Given the description of an element on the screen output the (x, y) to click on. 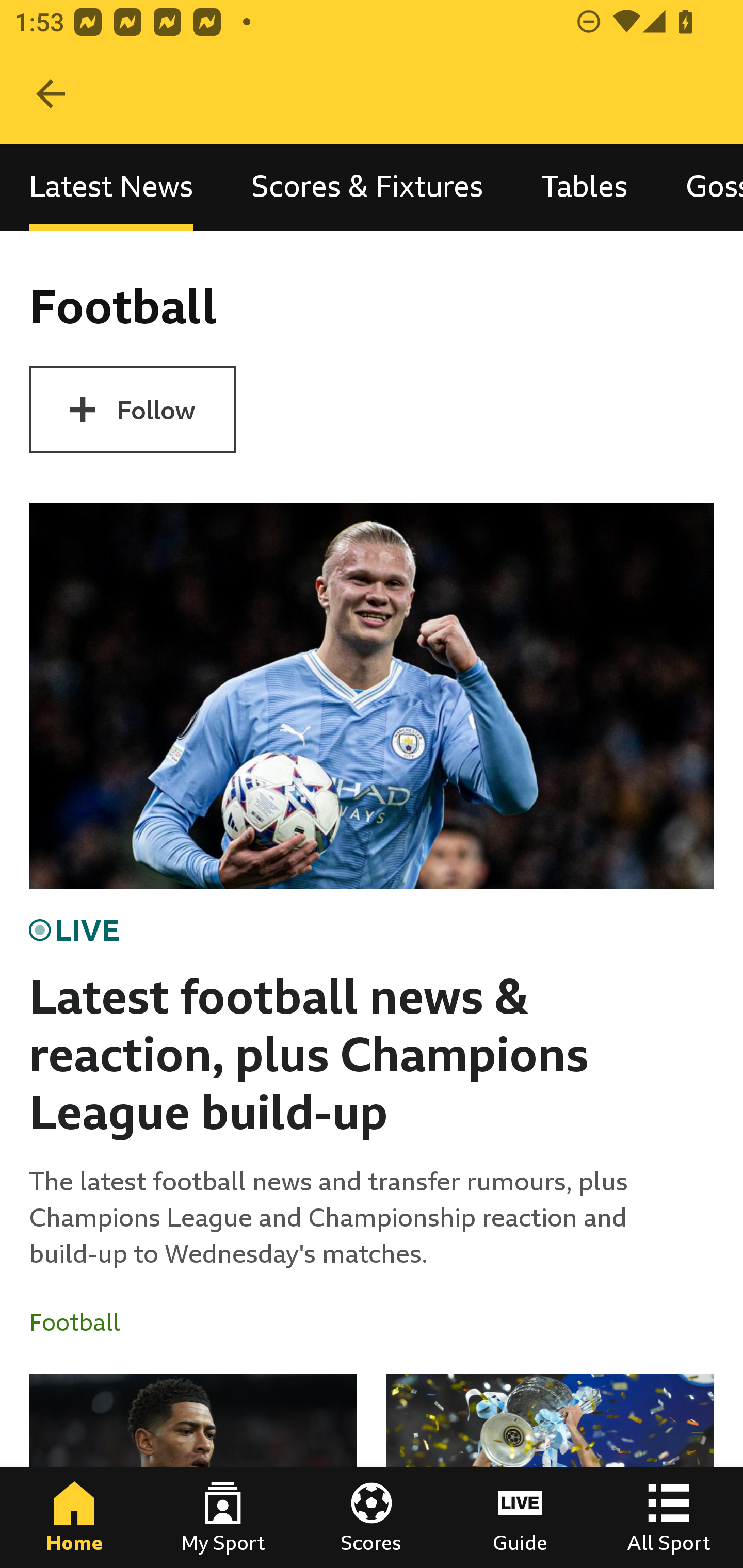
Navigate up (50, 93)
Latest News, selected Latest News (111, 187)
Scores & Fixtures (367, 187)
Tables (584, 187)
Follow Football Follow (132, 409)
My Sport (222, 1517)
Scores (371, 1517)
Guide (519, 1517)
All Sport (668, 1517)
